Given the description of an element on the screen output the (x, y) to click on. 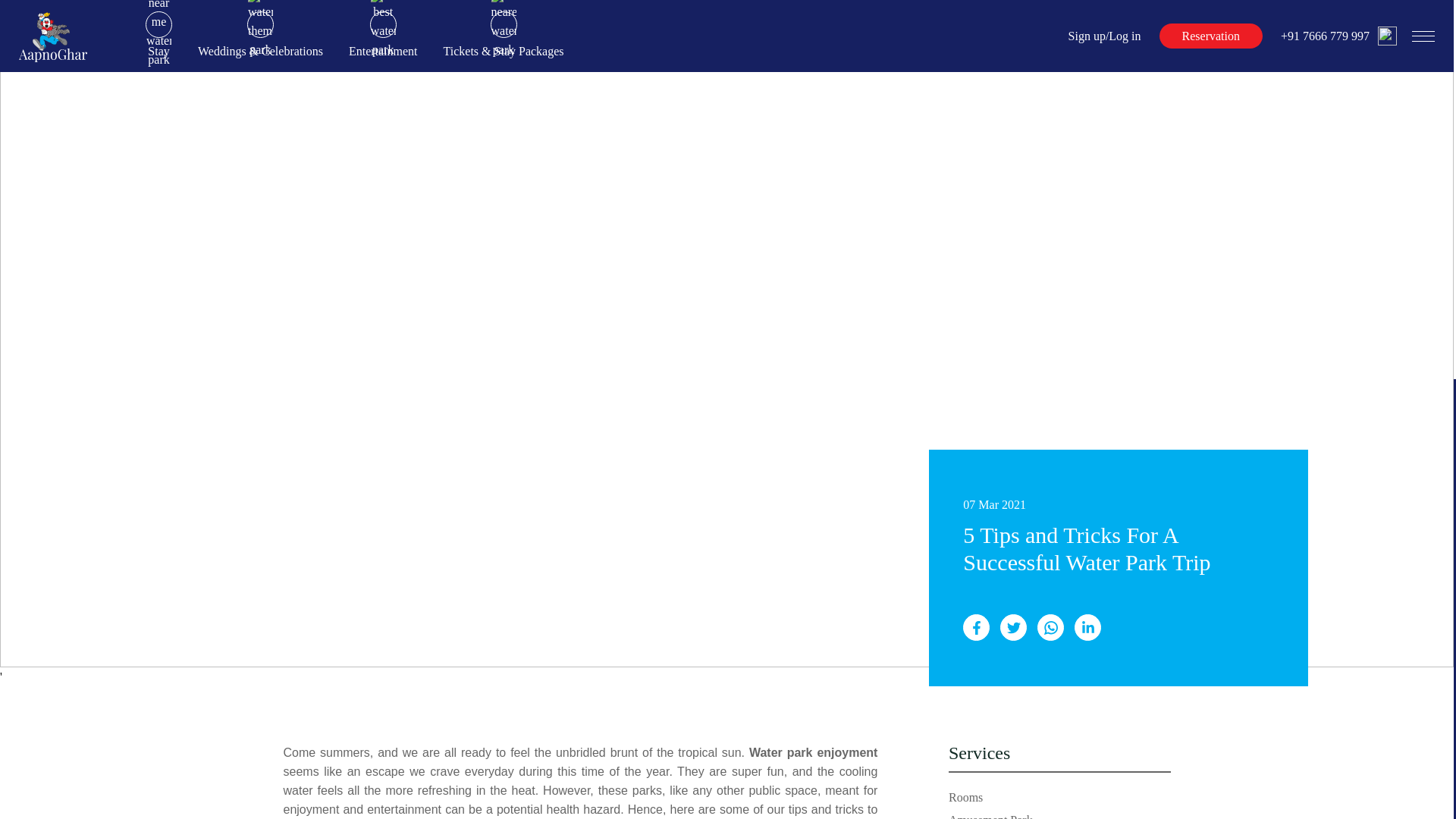
Reservation (1210, 35)
Rooms (965, 797)
Amusement Park (990, 816)
Entertainment (383, 36)
